Given the description of an element on the screen output the (x, y) to click on. 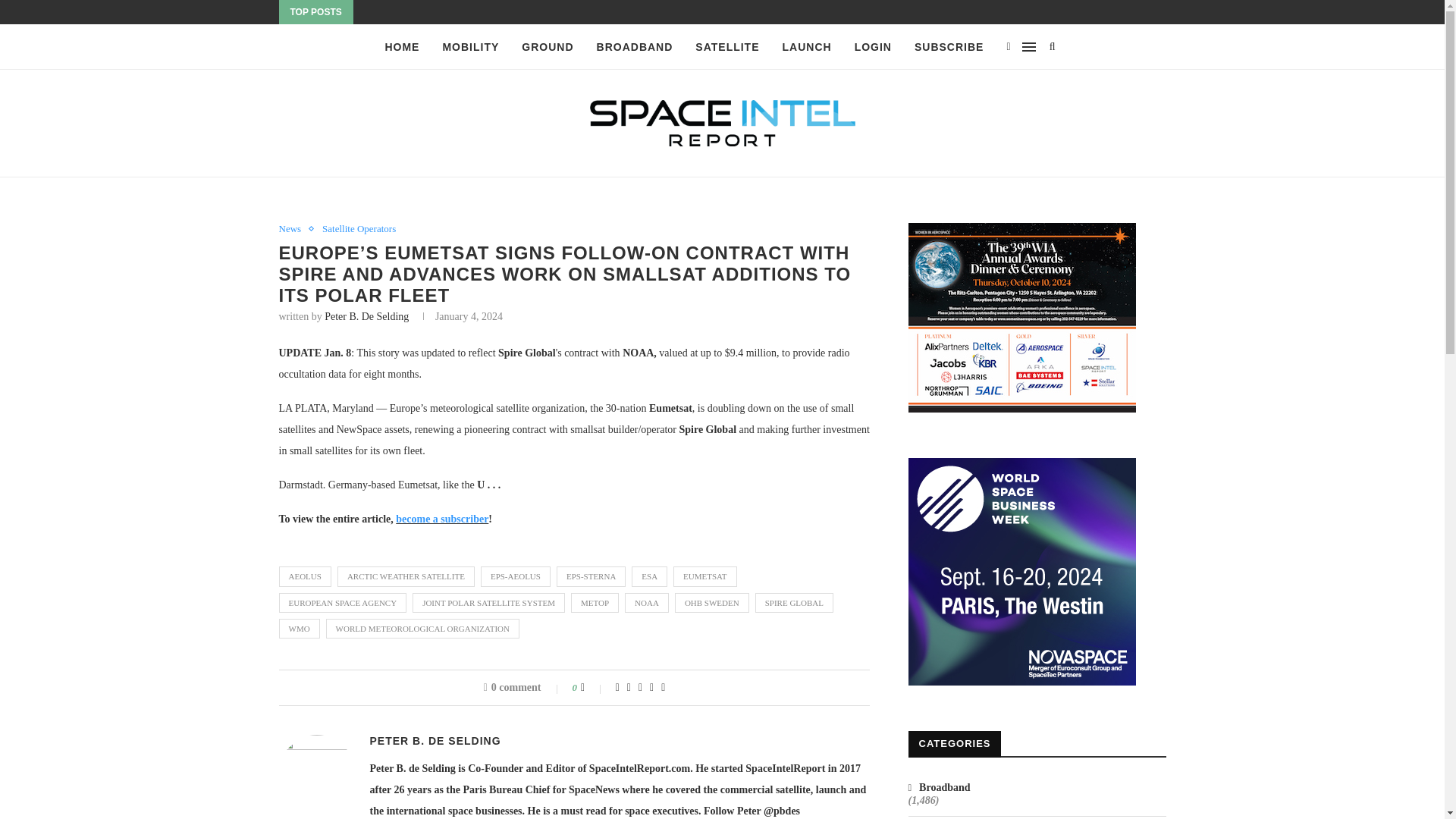
BROADBAND (634, 46)
LAUNCH (807, 46)
GROUND (547, 46)
News (293, 228)
Posts by Peter B. de Selding (434, 740)
SUBSCRIBE (949, 46)
Like (592, 687)
MOBILITY (470, 46)
